Given the description of an element on the screen output the (x, y) to click on. 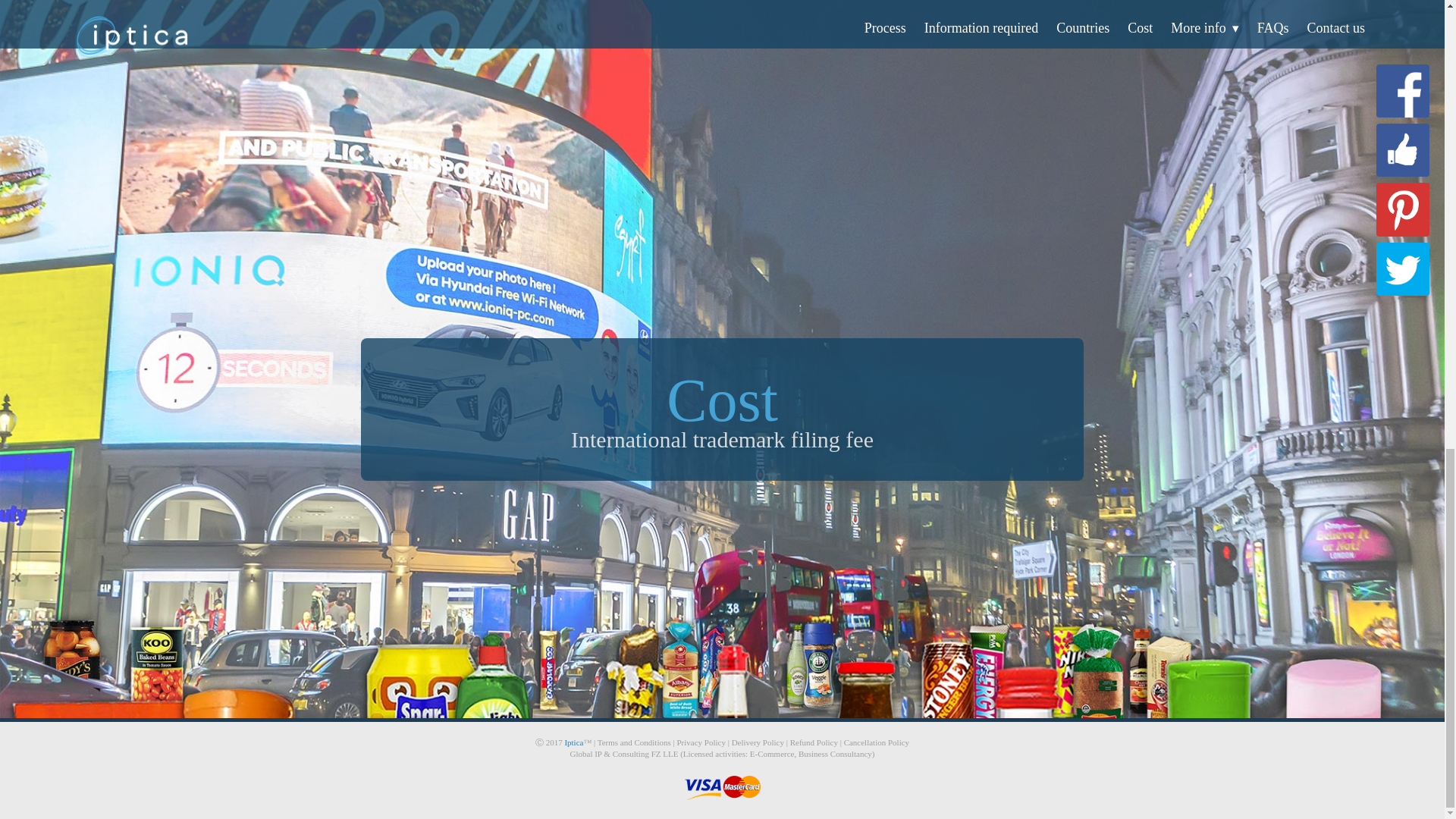
Refund Policy (814, 741)
Privacy Policy (701, 741)
Terms and Conditions (633, 741)
Delivery Policy (758, 741)
Iptica (573, 741)
Cancellation Policy (876, 741)
